Given the description of an element on the screen output the (x, y) to click on. 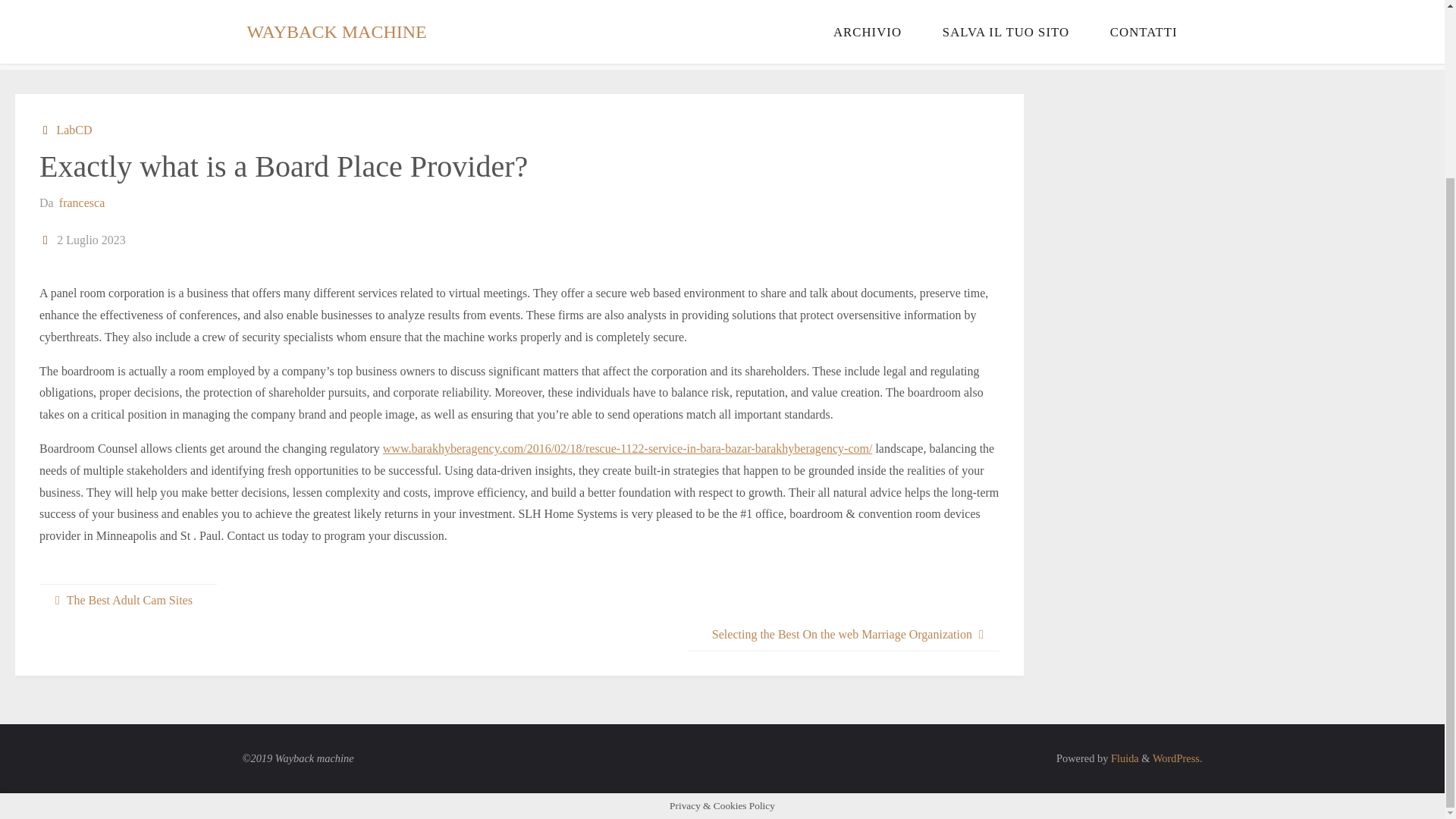
WordPress. (1177, 758)
LabCD (365, 51)
Piattaforma personale di pubblicazione semantica (1177, 758)
Fluida (1123, 758)
Fluida WordPress Theme by Cryout Creations (1123, 758)
Selecting the Best On the web Marriage Organization (842, 634)
Data (46, 239)
LabCD (72, 129)
Categorie (46, 129)
francesca (80, 202)
